Given the description of an element on the screen output the (x, y) to click on. 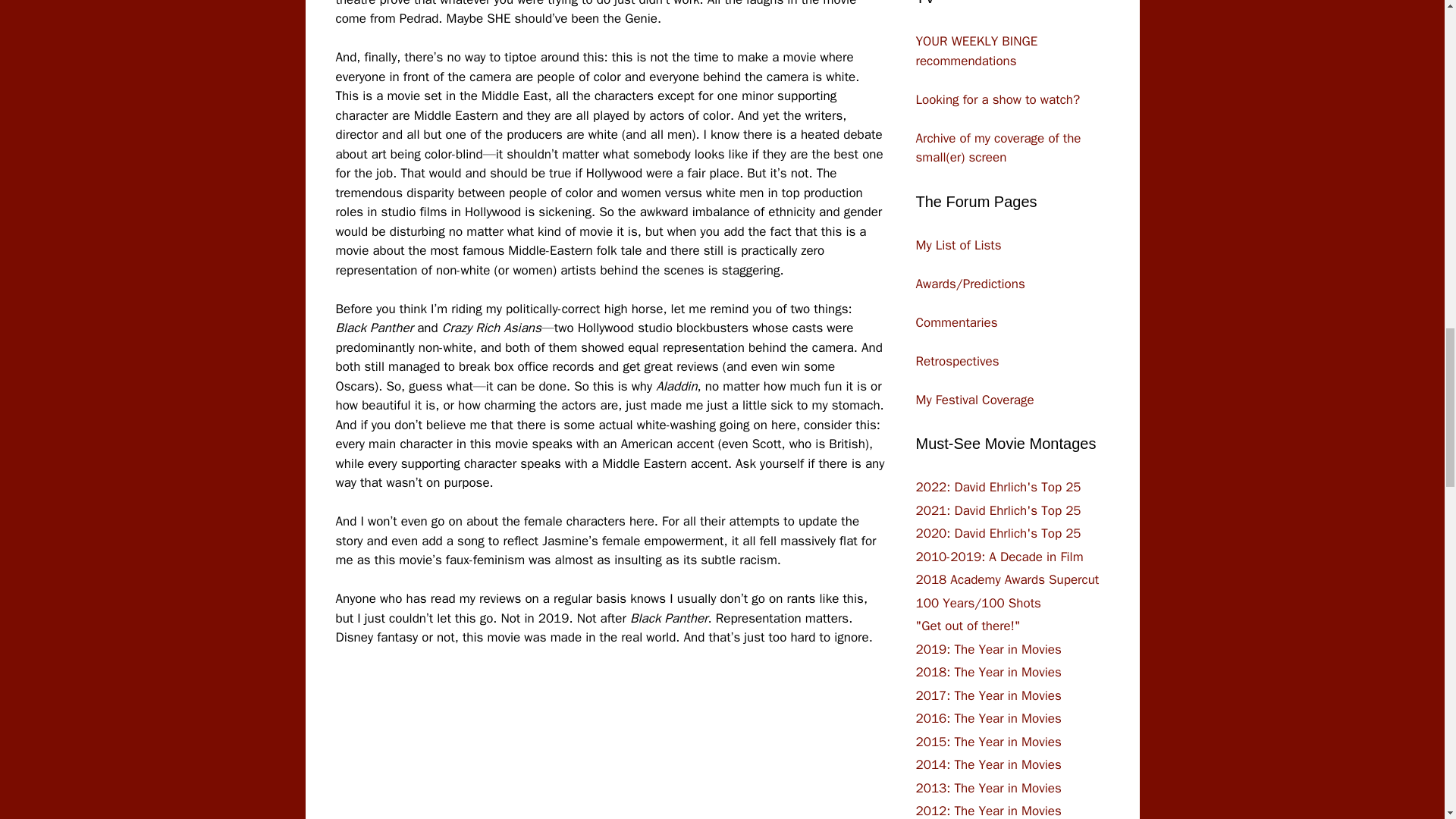
Retrospectives (956, 360)
My List of Lists (958, 244)
Looking for a show to watch? (997, 98)
Commentaries (956, 321)
YOUR WEEKLY BINGE recommendations (976, 50)
